Given the description of an element on the screen output the (x, y) to click on. 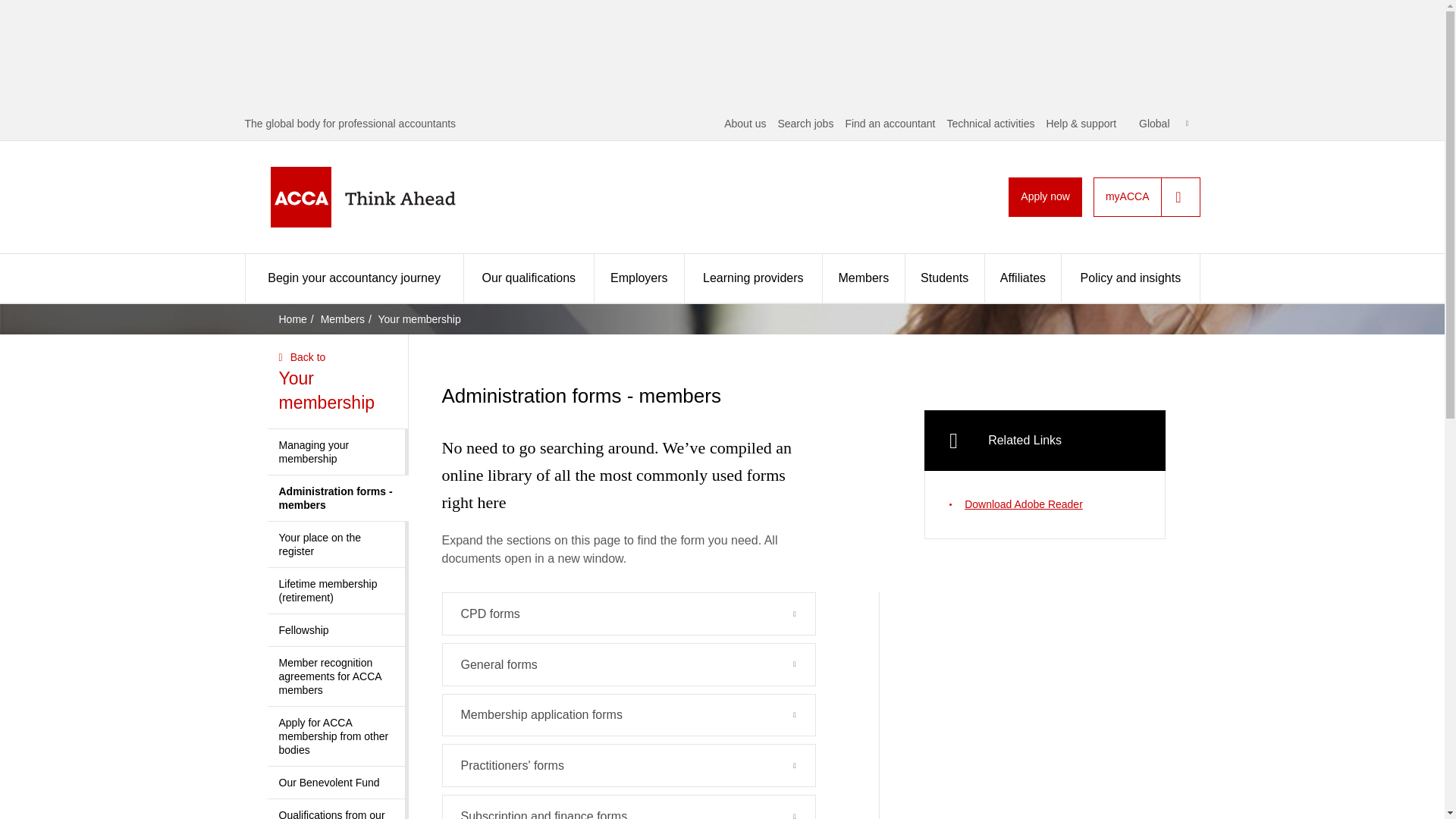
Technical activities (989, 123)
About us (744, 123)
Search jobs (804, 123)
Find an accountant (889, 123)
Global (1162, 123)
Download Adobe Reader (1044, 504)
Global (1162, 123)
Home (387, 197)
